Given the description of an element on the screen output the (x, y) to click on. 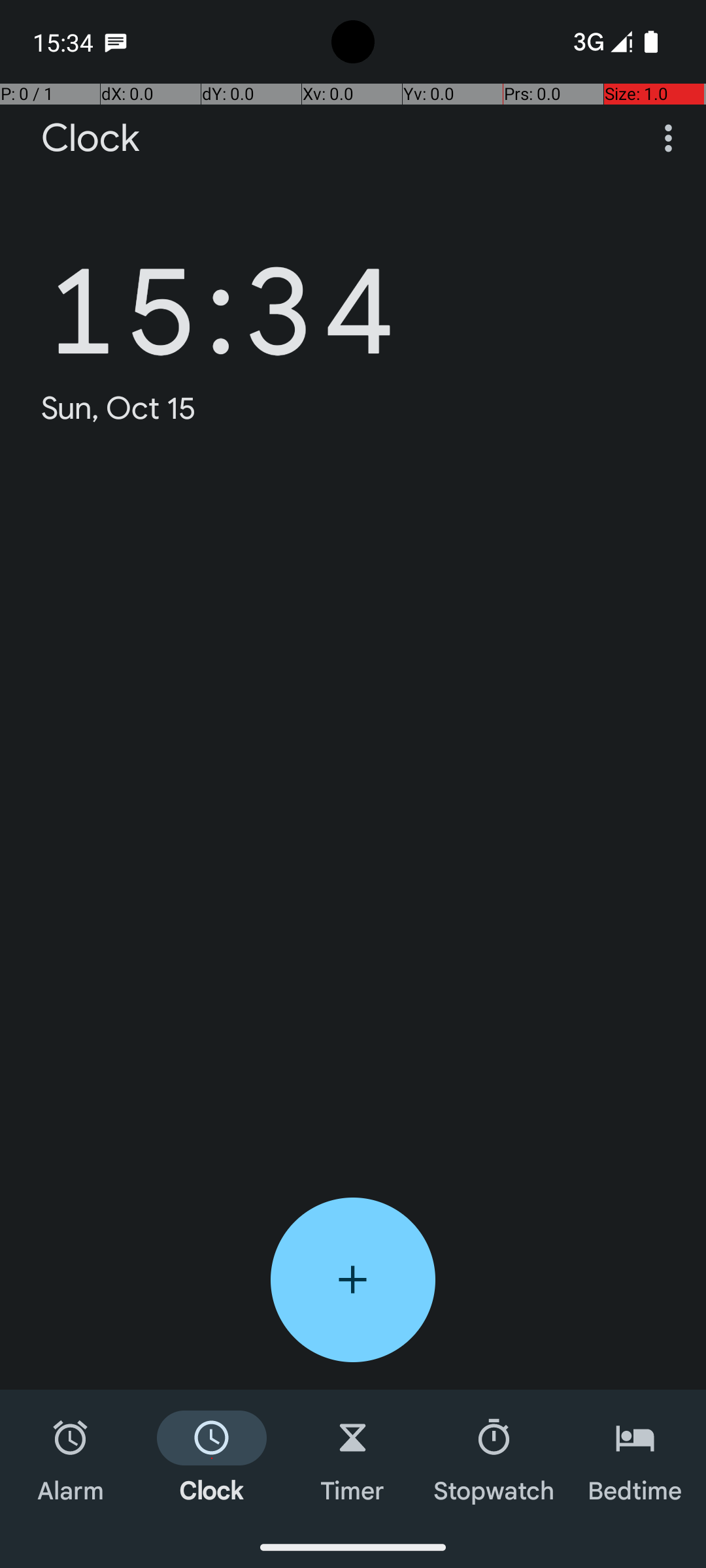
Clock Element type: android.widget.TextView (90, 138)
Add city Element type: android.widget.Button (352, 1279)
Alarm Element type: android.widget.FrameLayout (70, 1457)
Timer Element type: android.widget.FrameLayout (352, 1457)
Stopwatch Element type: android.widget.FrameLayout (493, 1457)
Bedtime Element type: android.widget.FrameLayout (635, 1457)
Sun, Oct 15 Element type: android.widget.TextView (118, 407)
SMS Messenger notification: Petar Gonzalez Element type: android.widget.ImageView (115, 41)
